Given the description of an element on the screen output the (x, y) to click on. 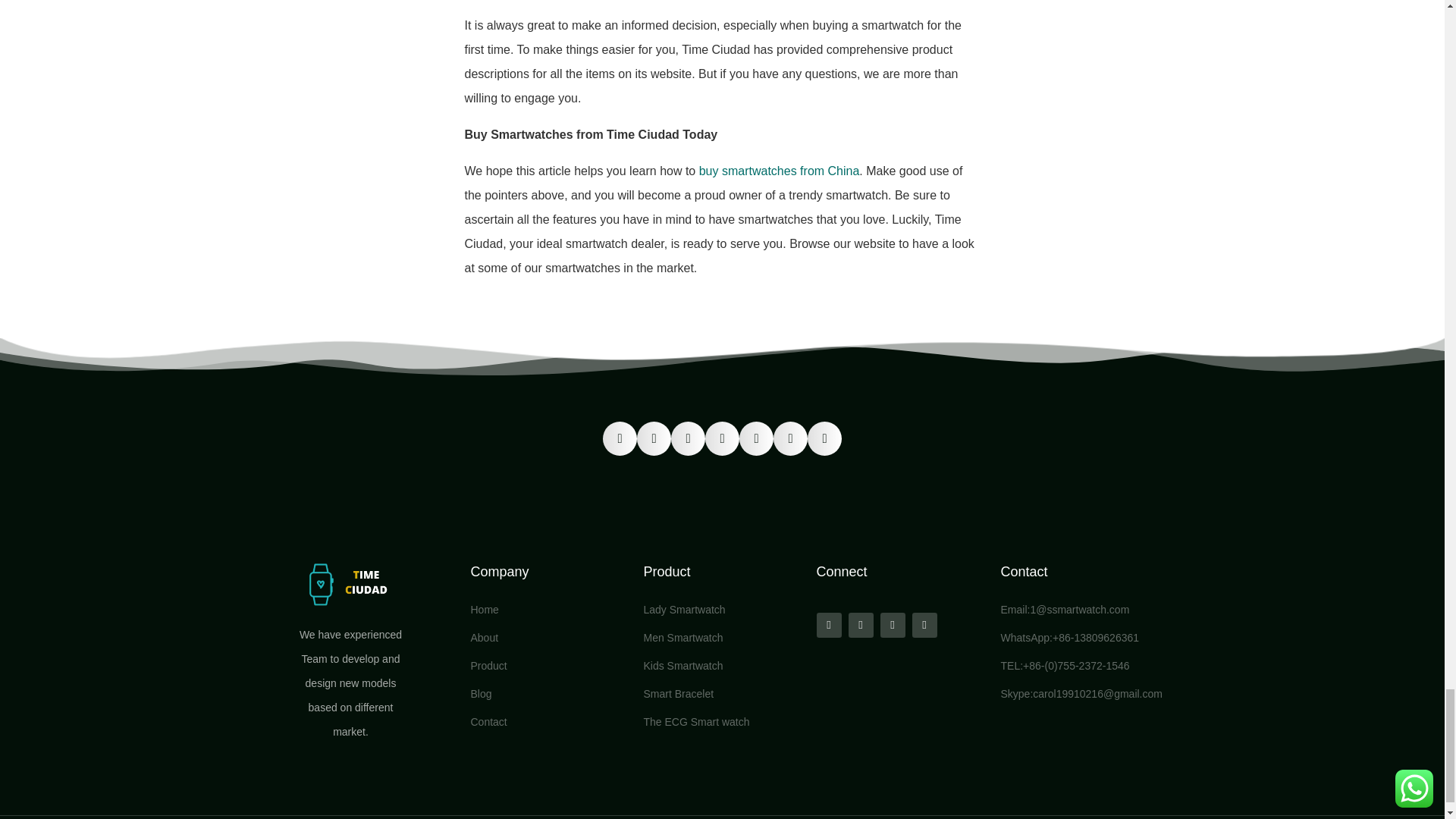
buy smartwatches from China (779, 170)
About (548, 637)
Contact (548, 721)
Home (548, 609)
Kids Smartwatch (721, 665)
Smart Bracelet (721, 693)
Blog (548, 693)
Lady Smartwatch (721, 609)
Contact (1024, 571)
Product (548, 665)
Men Smartwatch (721, 637)
The ECG Smart watch (721, 721)
